Given the description of an element on the screen output the (x, y) to click on. 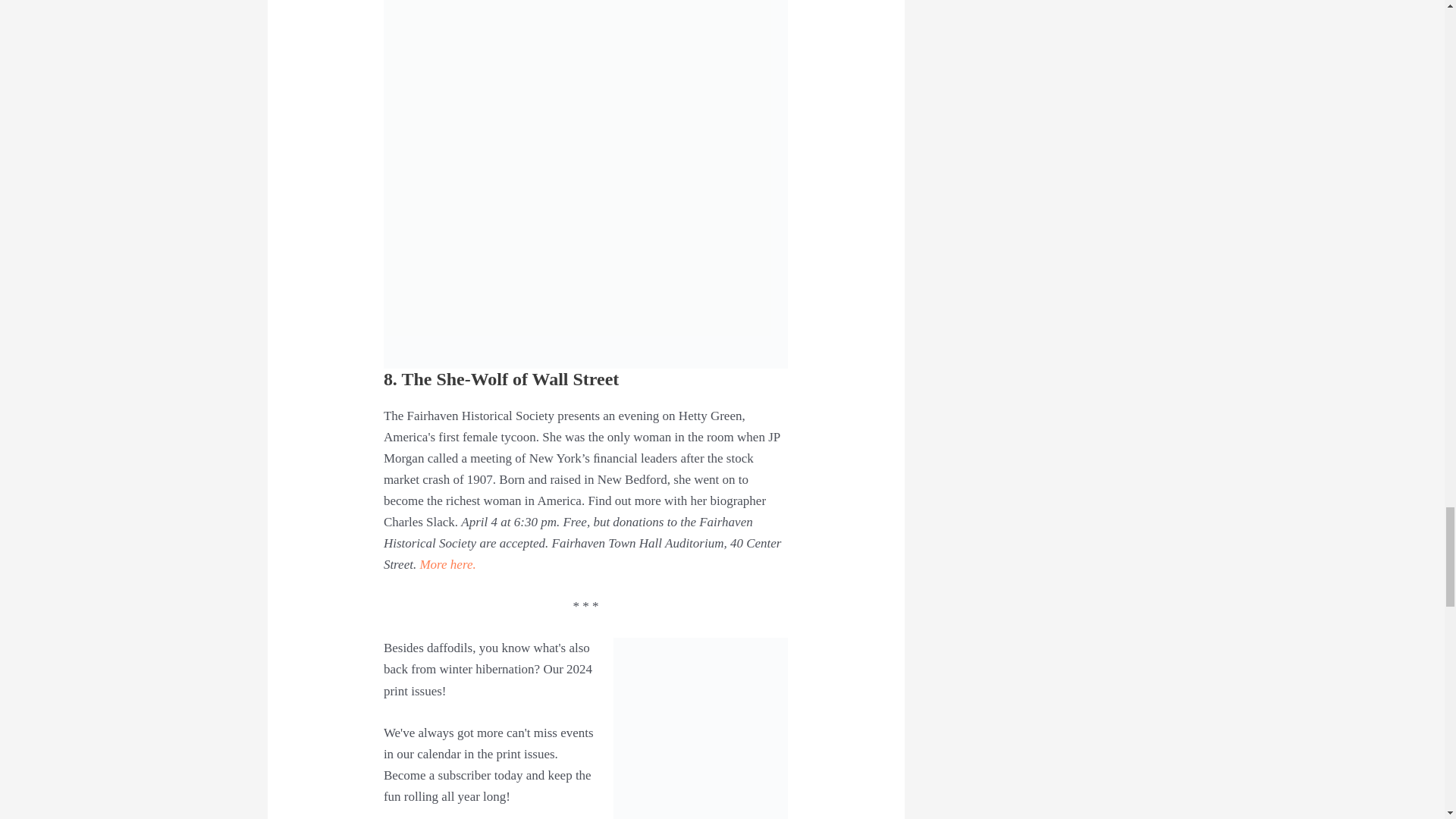
More here. (447, 564)
